Given the description of an element on the screen output the (x, y) to click on. 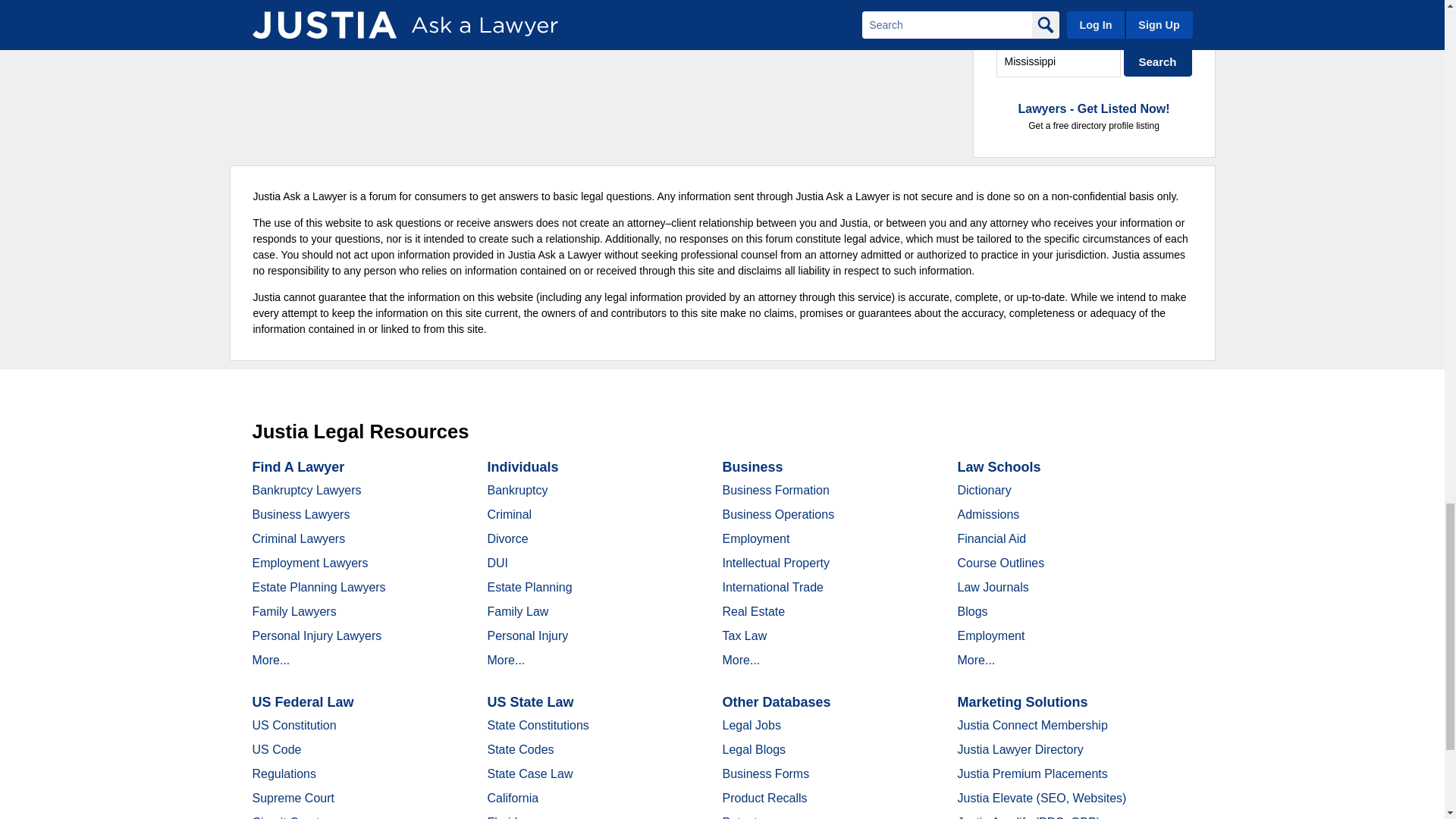
Search (1158, 61)
City, State (1058, 61)
Legal Issue or Lawyer Name (1093, 28)
Search (1158, 61)
Mississippi (1058, 61)
